Given the description of an element on the screen output the (x, y) to click on. 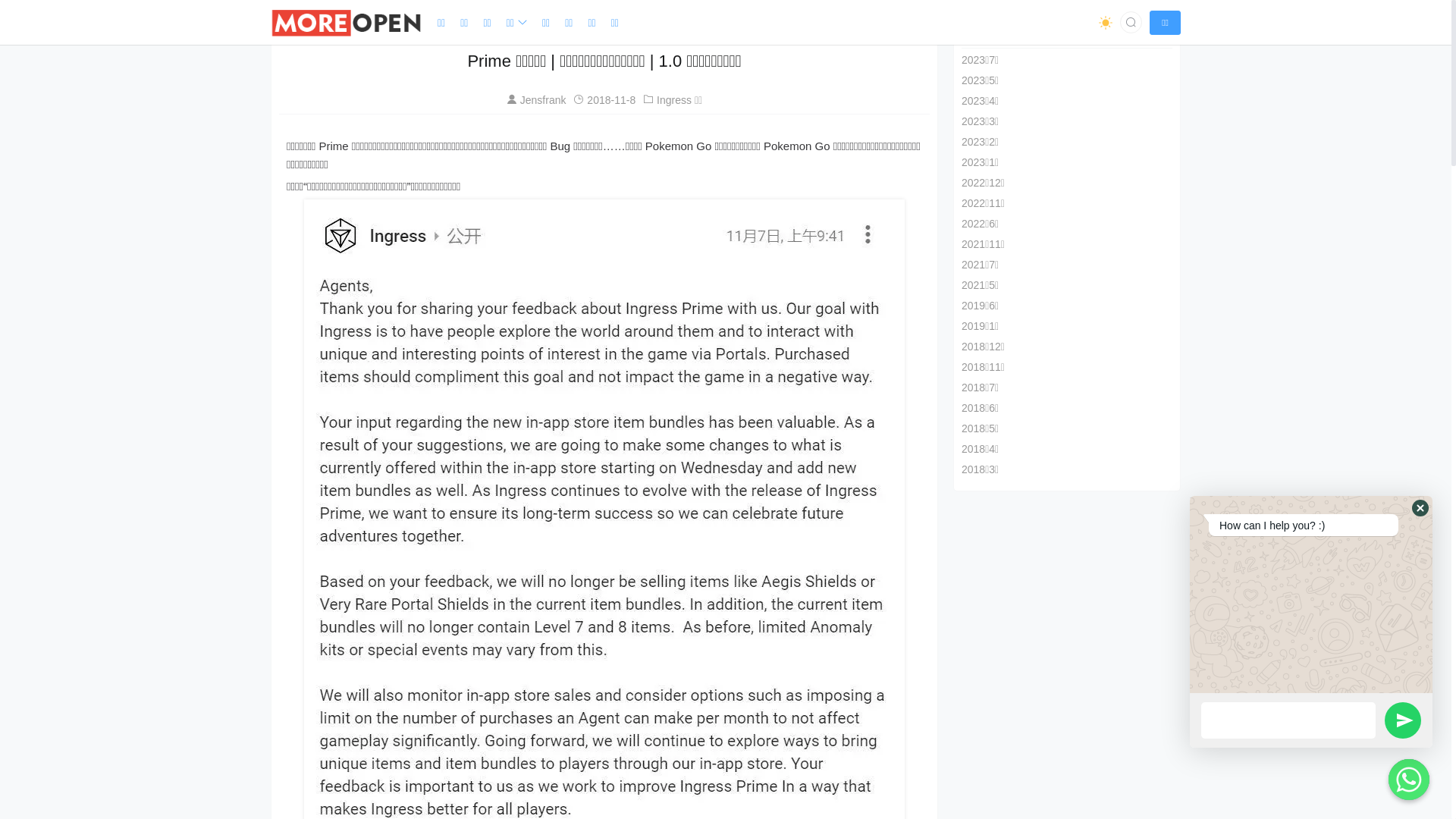
Ingress Element type: text (673, 100)
Ingress Element type: text (327, 21)
core Element type: hover (346, 22)
